Given the description of an element on the screen output the (x, y) to click on. 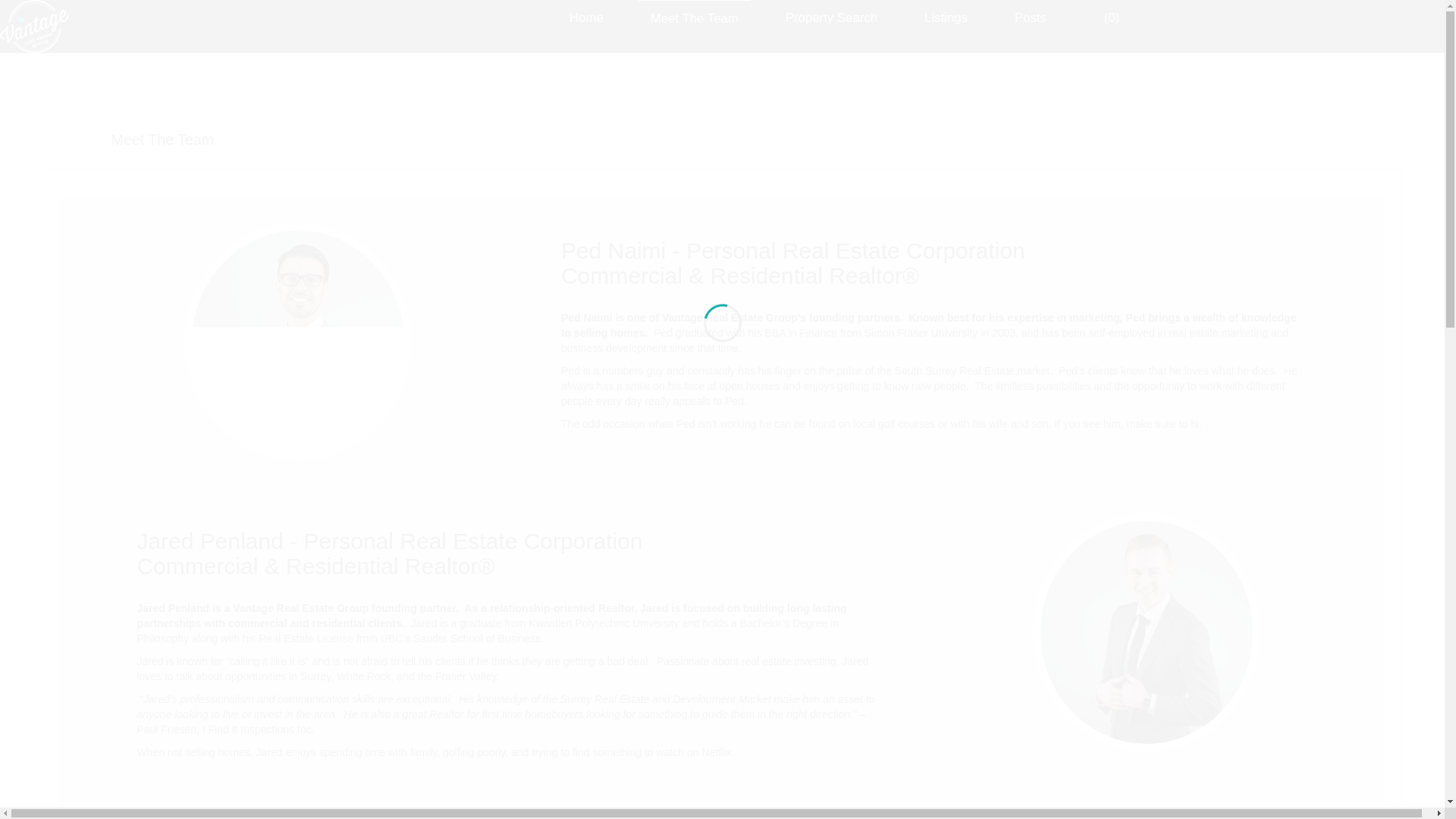
Listings (945, 18)
Property Search (831, 18)
Home (586, 18)
Posts (1030, 18)
Meet The Team (695, 18)
